Given the description of an element on the screen output the (x, y) to click on. 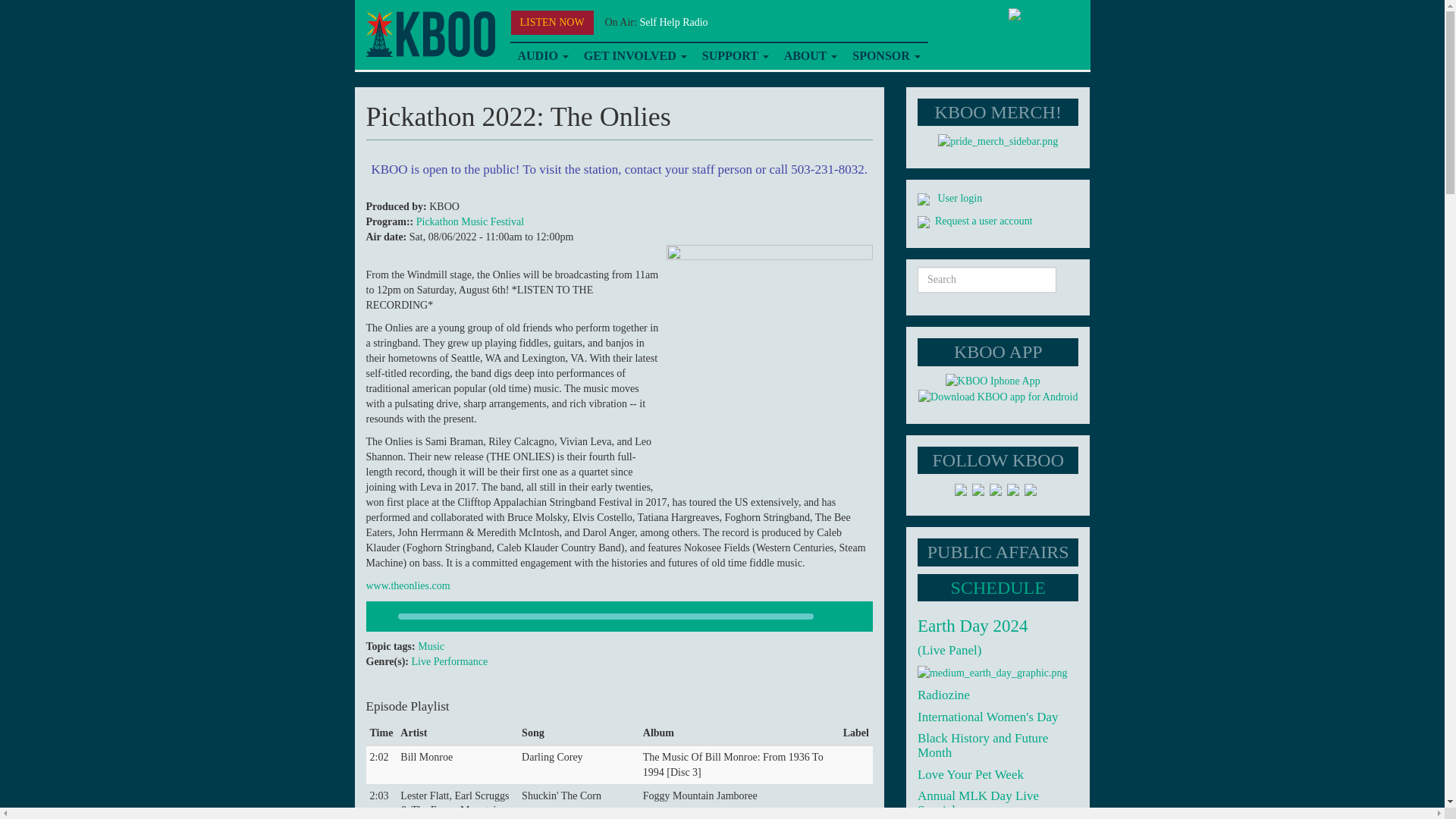
AUDIO (542, 55)
Self Help Radio (673, 21)
Home (430, 34)
LISTEN NOW (551, 22)
SUPPORT (735, 55)
ABOUT (810, 55)
GET INVOLVED (635, 55)
